Given the description of an element on the screen output the (x, y) to click on. 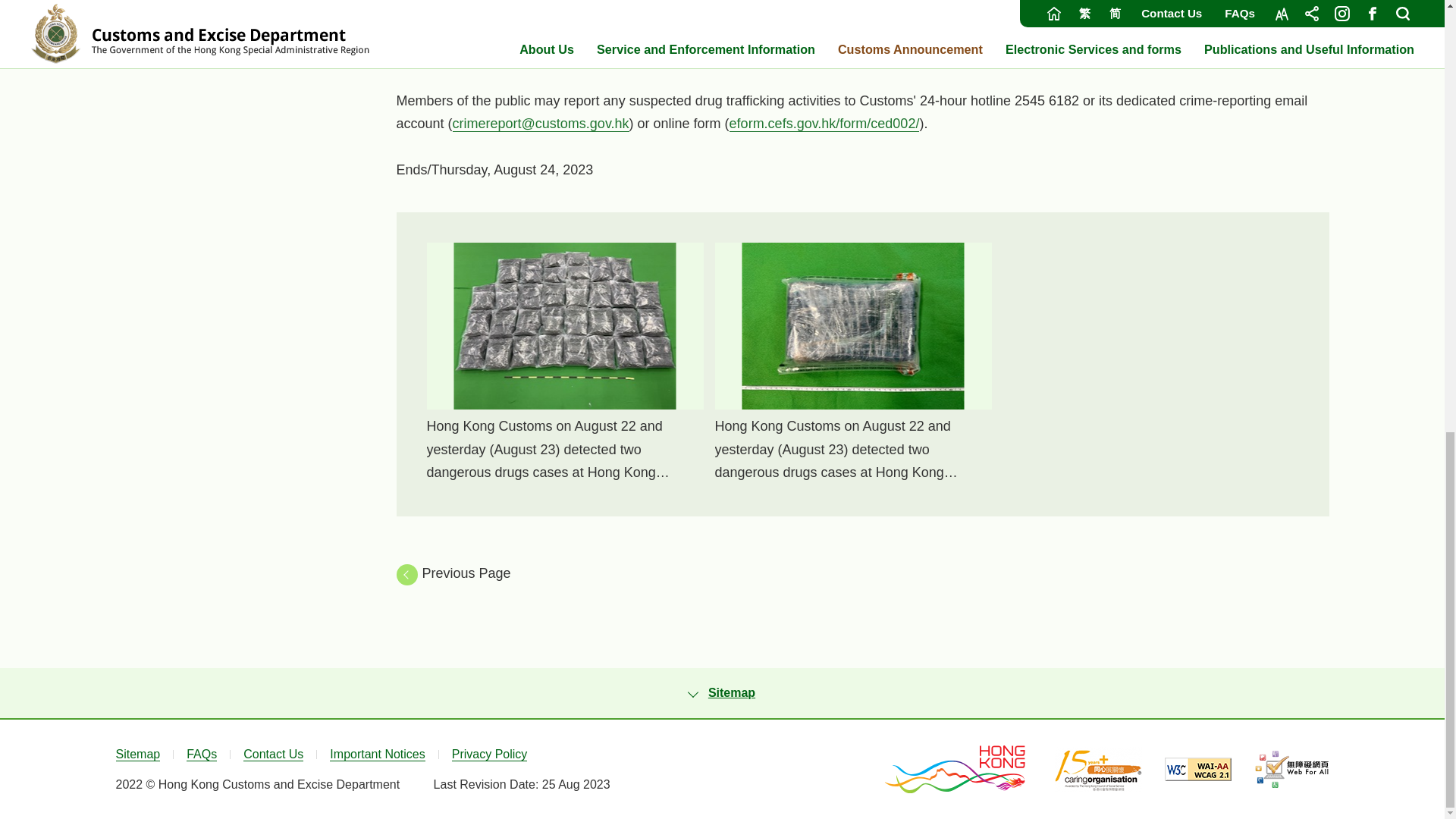
WCAG 2.1 AA, This link will open in new window (1197, 769)
Caring Organisation, This link will open in new window (1097, 769)
